Given the description of an element on the screen output the (x, y) to click on. 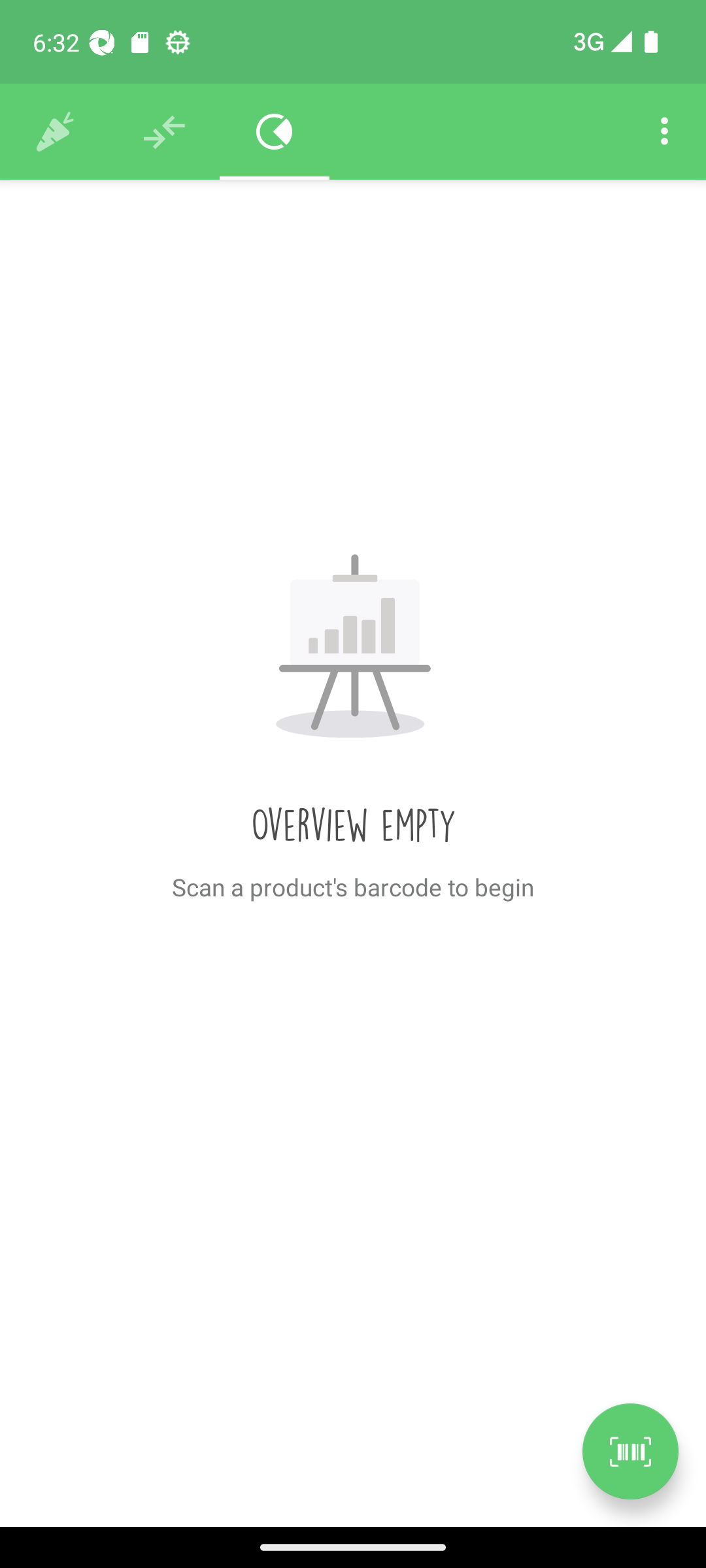
History (55, 131)
Recommendations (164, 131)
Settings (664, 131)
Scan a product (630, 1451)
